Given the description of an element on the screen output the (x, y) to click on. 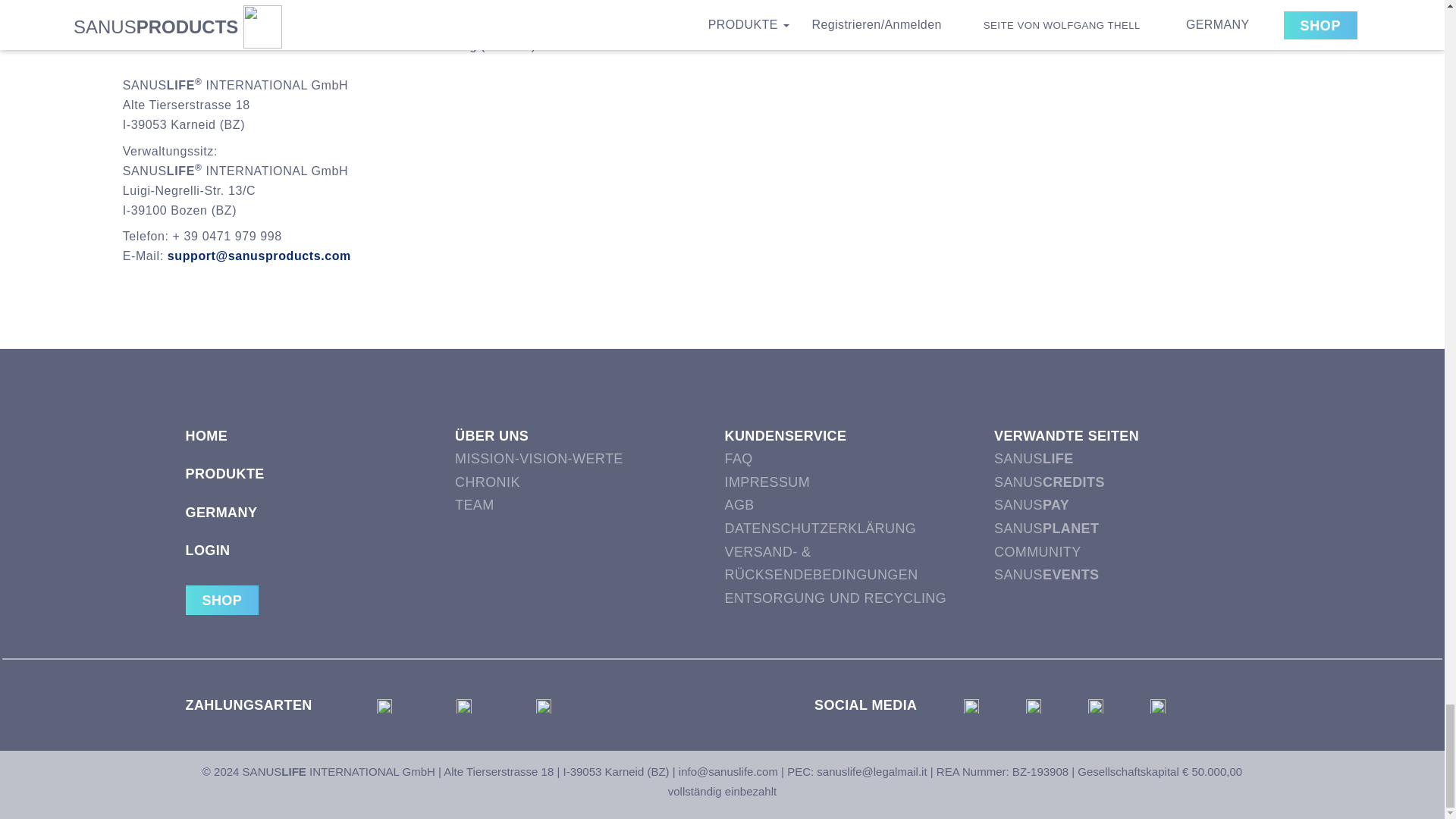
CHRONIK (587, 482)
PRODUKTE (316, 481)
MISSION-VISION-WERTE (587, 458)
HOME (316, 444)
GERMANY (316, 520)
FAQ (857, 458)
SHOP (221, 600)
TEAM (587, 504)
LOGIN (316, 558)
